Given the description of an element on the screen output the (x, y) to click on. 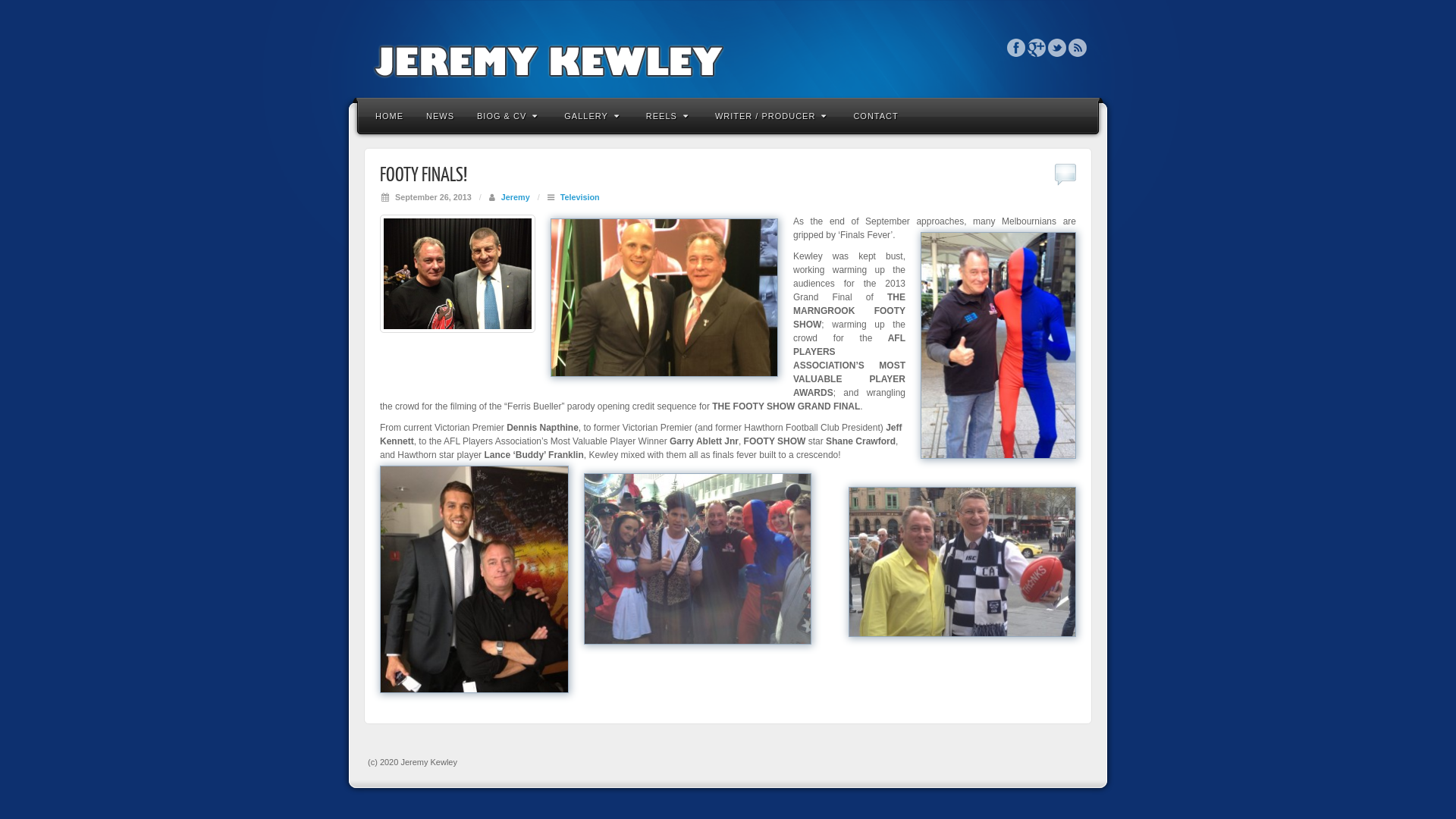
RSS Element type: text (1077, 46)
GALLERY Element type: text (593, 115)
NEWS Element type: text (439, 115)
Jeremy Element type: text (515, 196)
Television Element type: text (579, 196)
Jeremy Kewley Element type: hover (728, 47)
BIOG & CV Element type: text (508, 115)
Facebook Element type: text (1016, 46)
Google+ Element type: text (1036, 46)
WRITER / PRODUCER Element type: text (772, 115)
HOME Element type: text (389, 115)
  Element type: text (827, 497)
Twitter Element type: text (1057, 46)
REELS Element type: text (668, 115)
CONTACT Element type: text (875, 115)
